Given the description of an element on the screen output the (x, y) to click on. 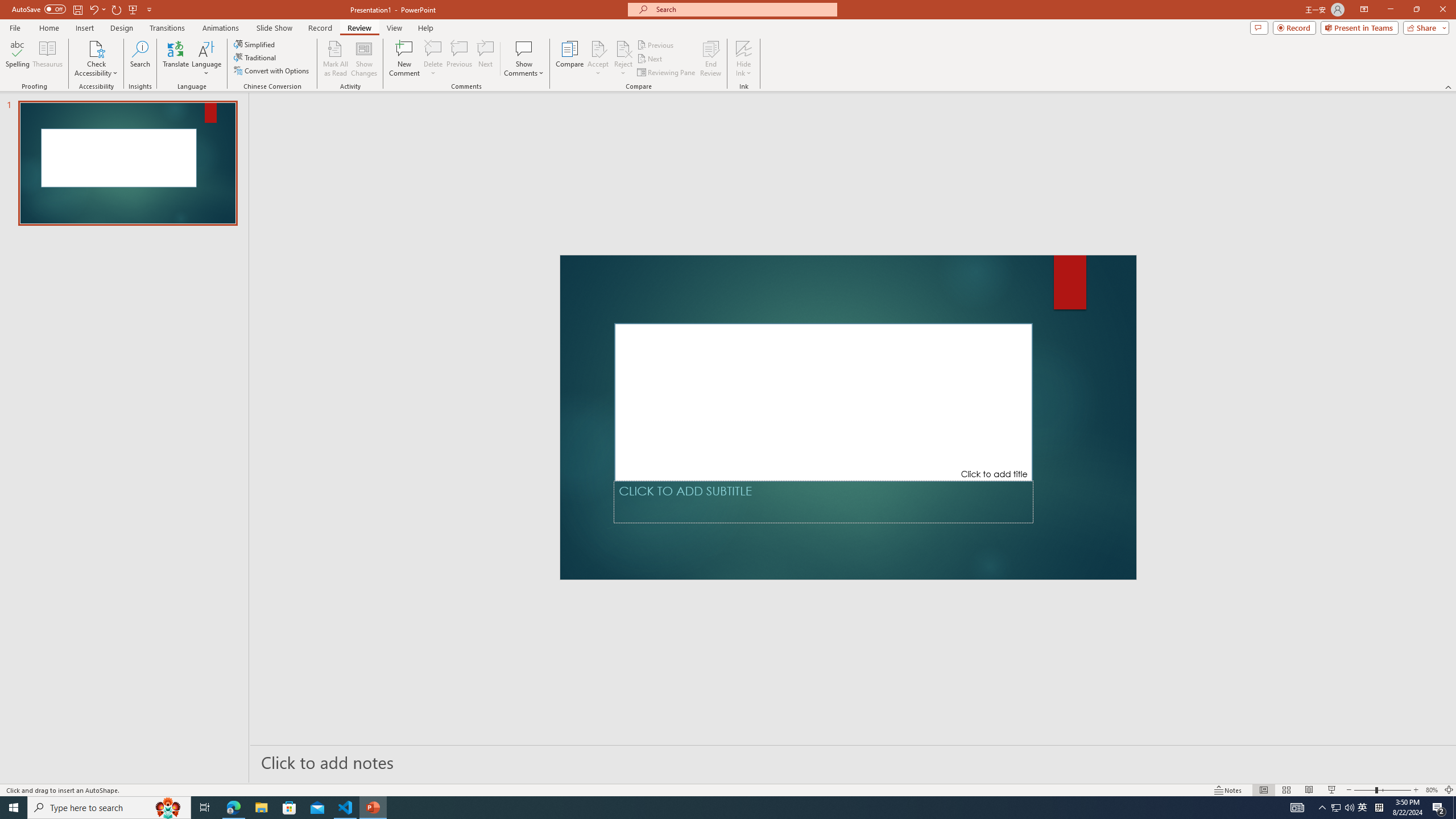
New Comment (403, 58)
Convert with Options... (272, 69)
